Given the description of an element on the screen output the (x, y) to click on. 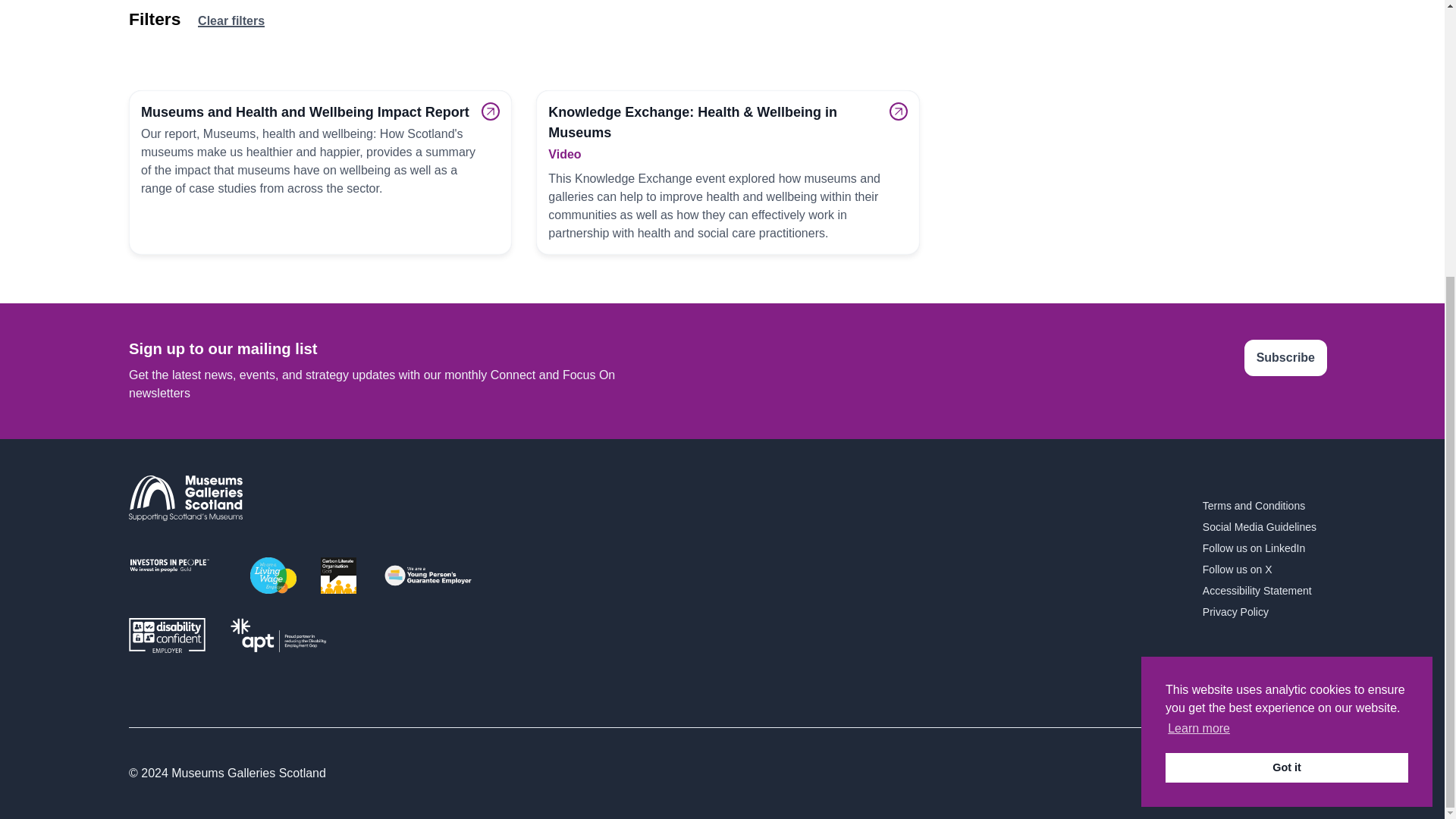
Follow us on LinkedIn (1259, 548)
Primate (1305, 773)
Privacy Policy (1264, 611)
Terms and Conditions (1259, 505)
Accessibility Statement (1259, 590)
View results (160, 16)
Follow us on X (1259, 569)
Subscribe (1285, 357)
Learn more (1198, 319)
Clear filters (231, 21)
Social Media Guidelines (1259, 527)
